Given the description of an element on the screen output the (x, y) to click on. 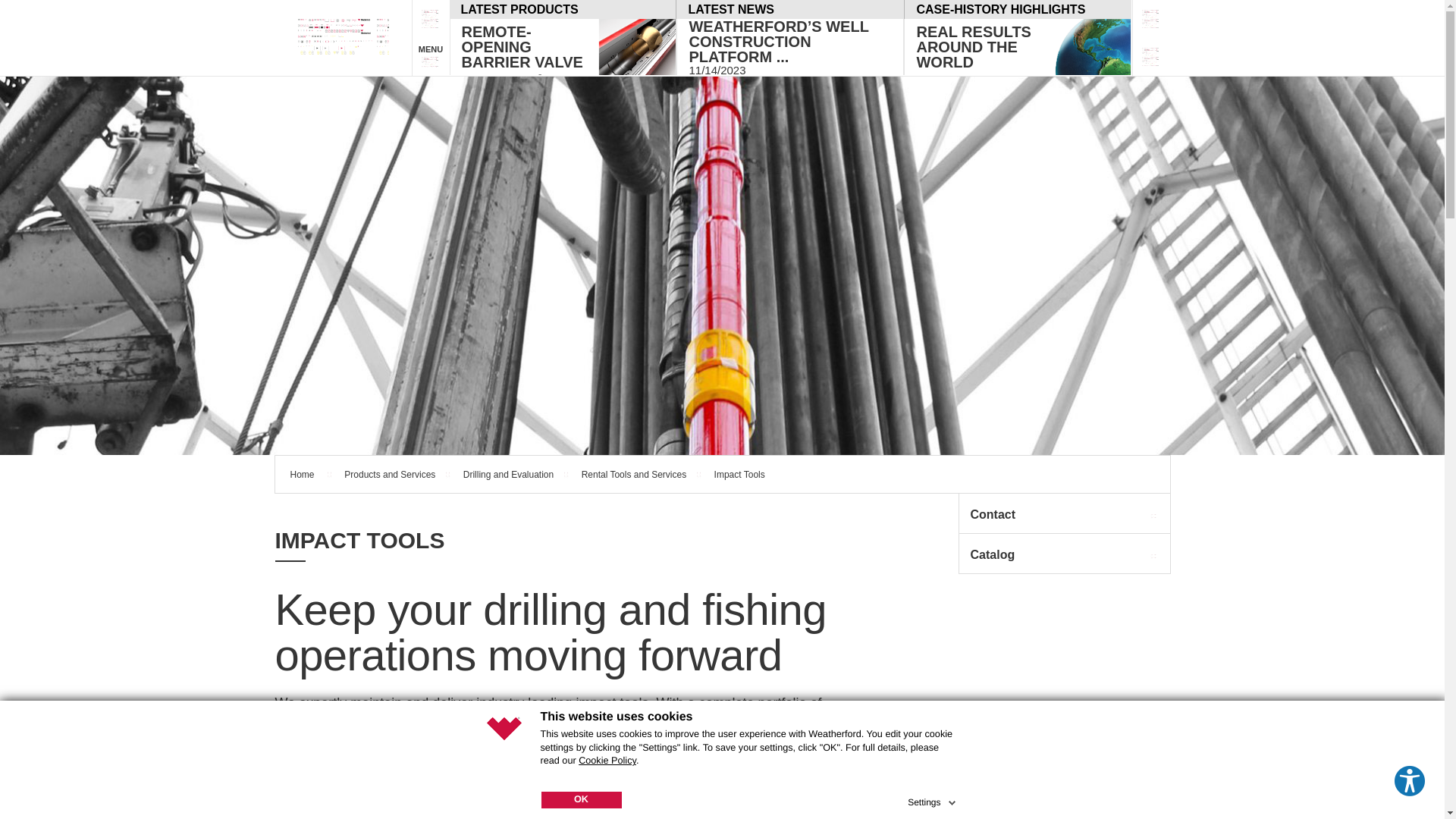
Cookie Policy (607, 760)
OK (581, 799)
Settings (932, 799)
